Given the description of an element on the screen output the (x, y) to click on. 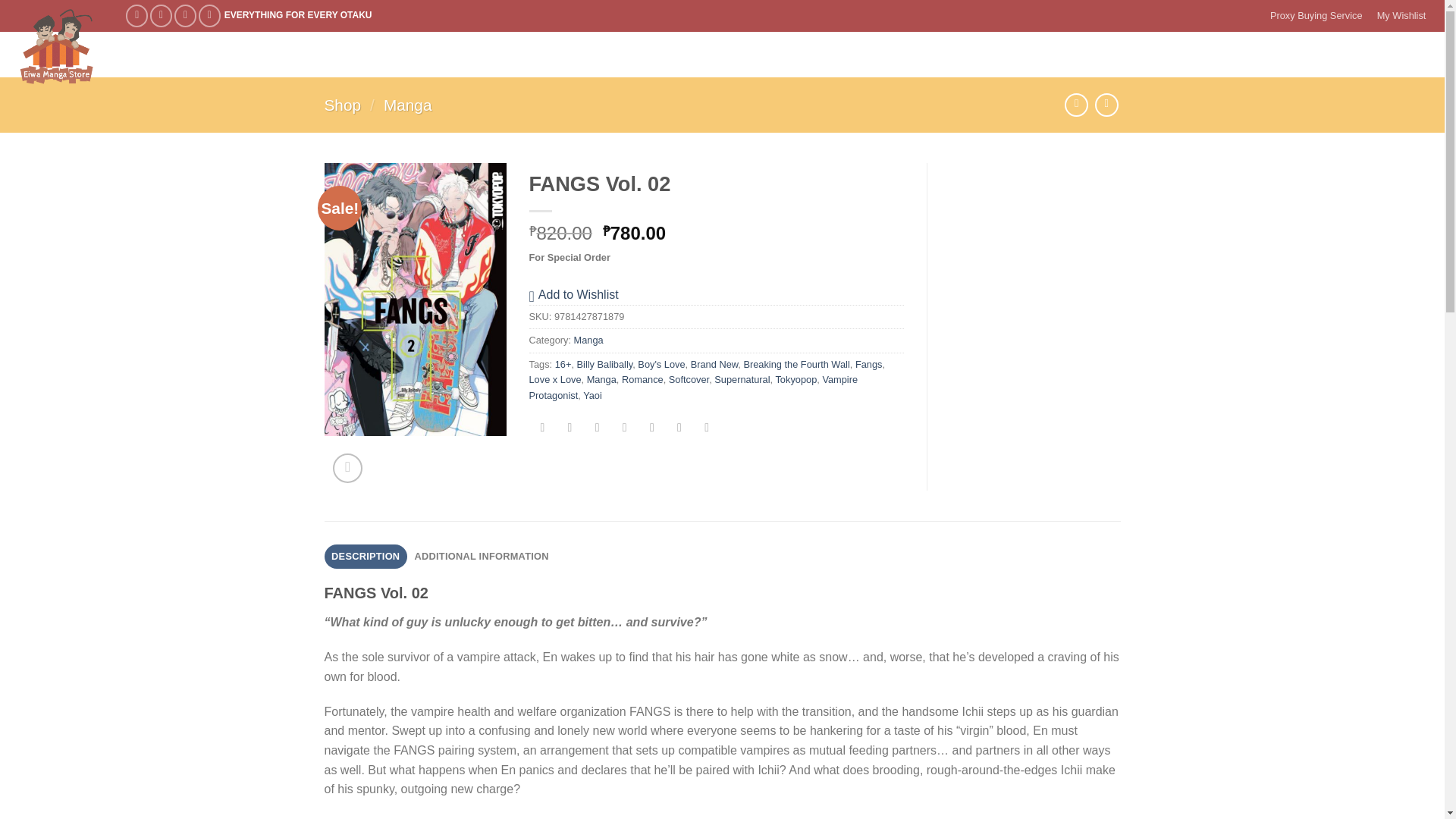
PICK YOUR POISON (222, 54)
Follow on Facebook (136, 15)
Zoom (347, 468)
Manga (408, 104)
Share on Facebook (541, 429)
Share on LinkedIn (652, 429)
Cart (1401, 54)
Send us an email (185, 15)
Share on Tumblr (679, 429)
Pin on Pinterest (624, 429)
Follow on YouTube (209, 15)
Proxy Buying Service (1316, 15)
AT YOUR SERVICE (437, 54)
Eiwa Manga Store - Everything For Every Otaku (57, 47)
FANGS Vol. 02 9781427871879 (415, 298)
